Given the description of an element on the screen output the (x, y) to click on. 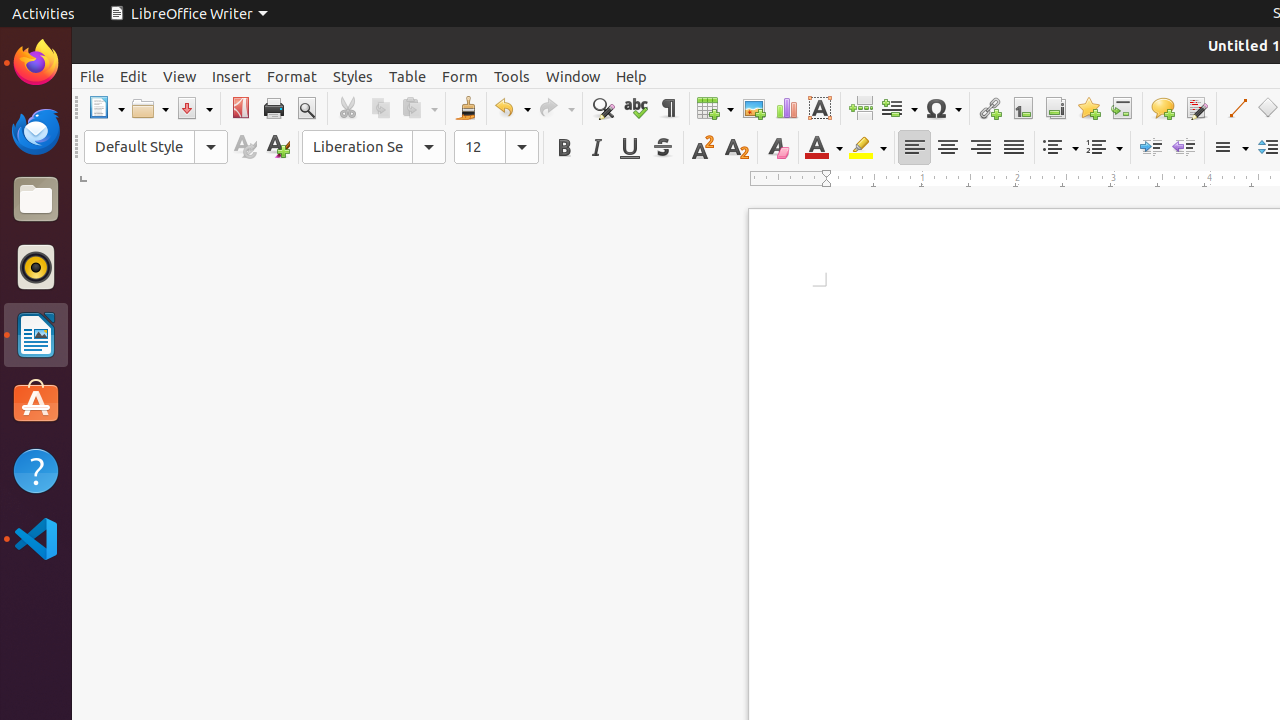
Line Spacing Element type: push-button (1230, 147)
Symbol Element type: push-button (943, 108)
Line Element type: toggle-button (1236, 108)
Font Color Element type: push-button (824, 147)
Paste Element type: push-button (419, 108)
